Given the description of an element on the screen output the (x, y) to click on. 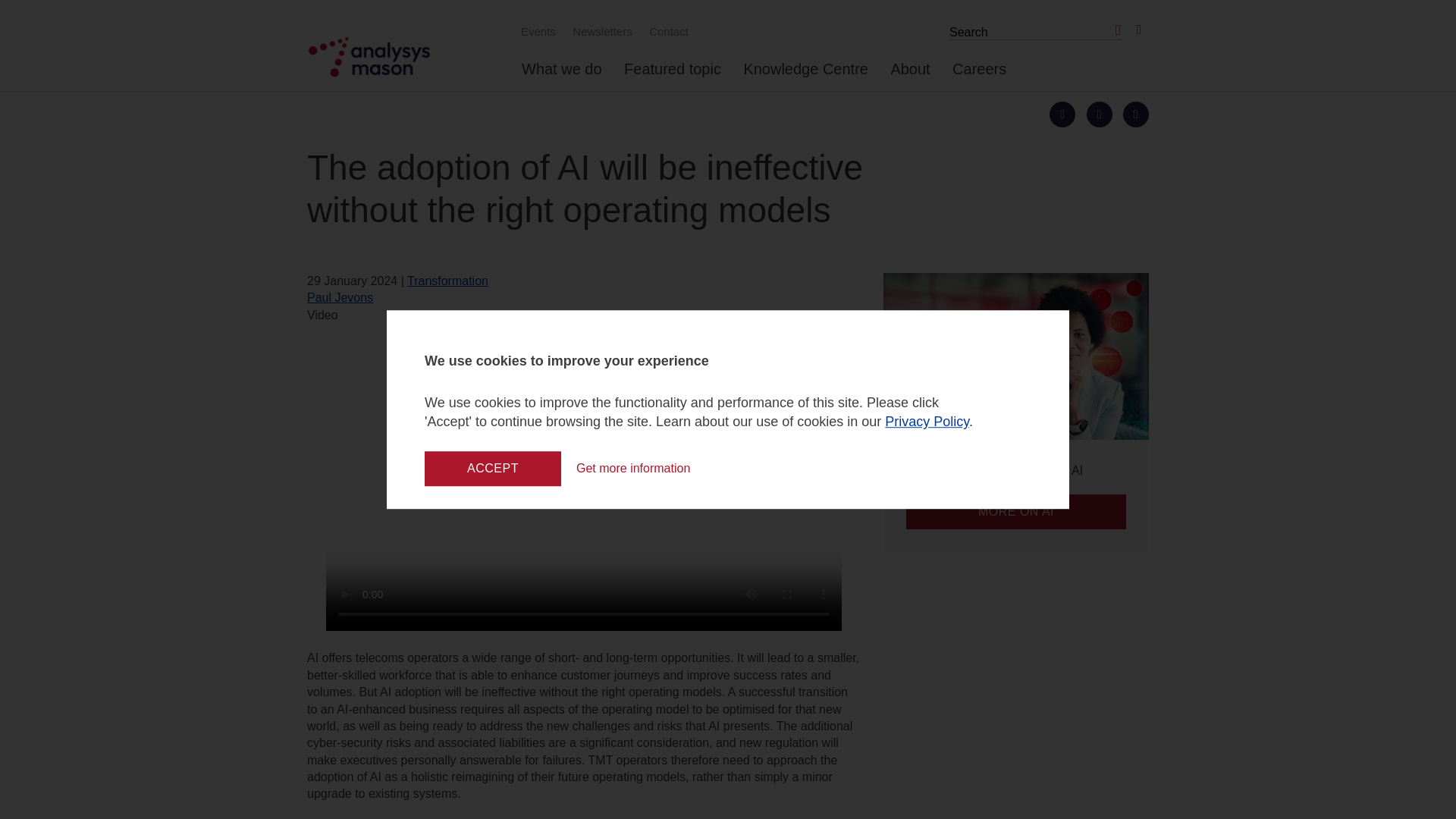
Contact (666, 31)
Knowledge Centre (805, 75)
Careers (978, 75)
Events (536, 31)
Privacy Policy (927, 421)
Newsletters (599, 31)
Featured topic (672, 75)
About (909, 75)
What we do (561, 75)
